Given the description of an element on the screen output the (x, y) to click on. 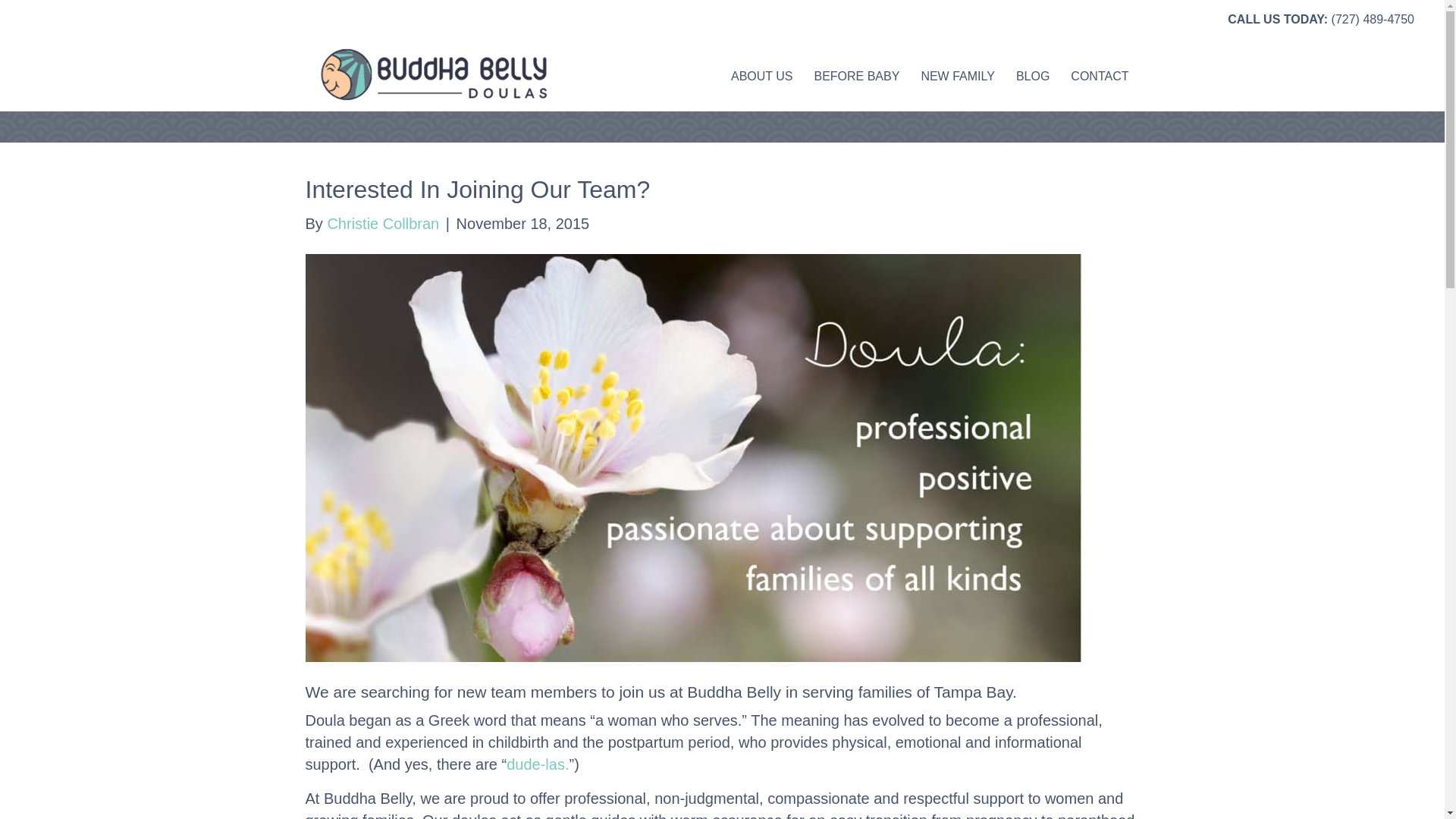
ABOUT US (761, 76)
BEFORE BABY (856, 76)
Searching for Doulas (721, 691)
